Given the description of an element on the screen output the (x, y) to click on. 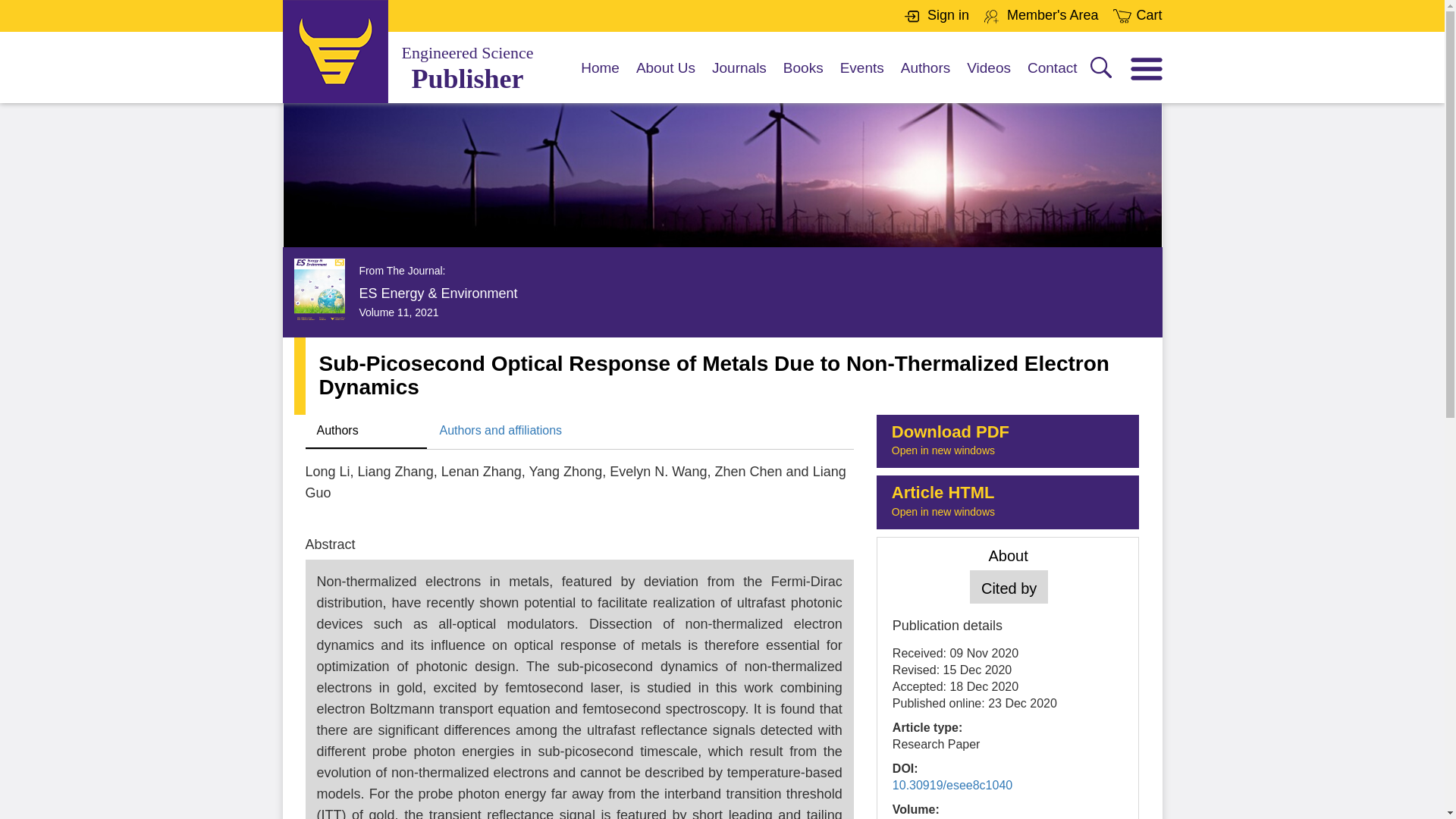
Journals (739, 79)
Sign in (948, 14)
Authors (925, 79)
Cart (1148, 14)
Videos (988, 79)
Home (1008, 440)
Books (600, 79)
Authors (1008, 501)
About (803, 79)
About Us (365, 431)
Authors and affiliations (1007, 553)
Member's Area (665, 79)
